Given the description of an element on the screen output the (x, y) to click on. 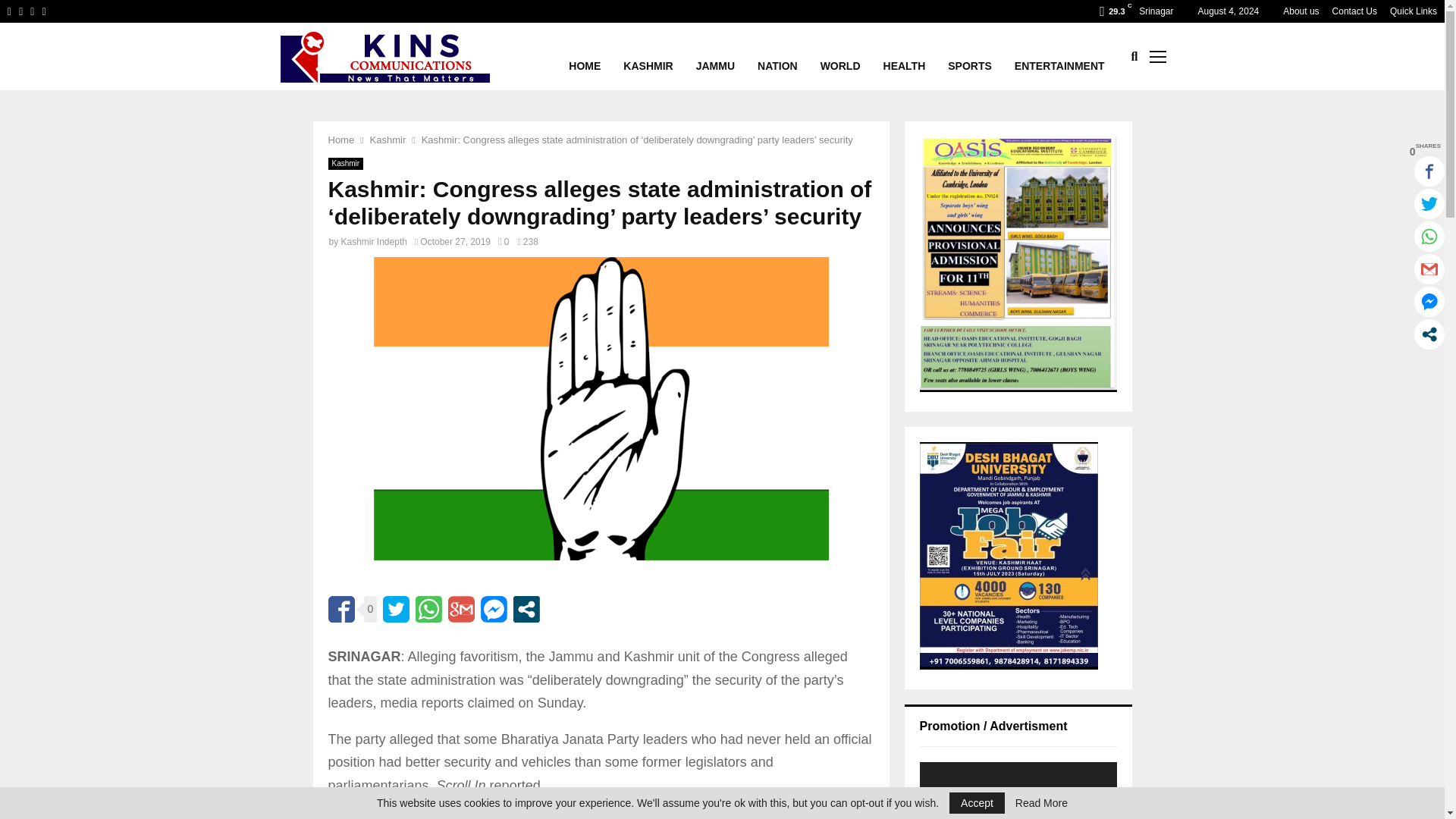
SPORTS (969, 56)
Kashmir Indepth (373, 241)
Quick Links (1413, 11)
Share on WhatsApp (428, 609)
Linkedin (31, 11)
Tweet (395, 609)
Youtube (43, 11)
Send on Facebook Messenger (493, 609)
Twitter (20, 11)
Facebook (9, 11)
KASHMIR (647, 56)
Send by Gmail (461, 609)
Contact Us (1354, 11)
WORLD (840, 56)
Open modal social networks (526, 609)
